Given the description of an element on the screen output the (x, y) to click on. 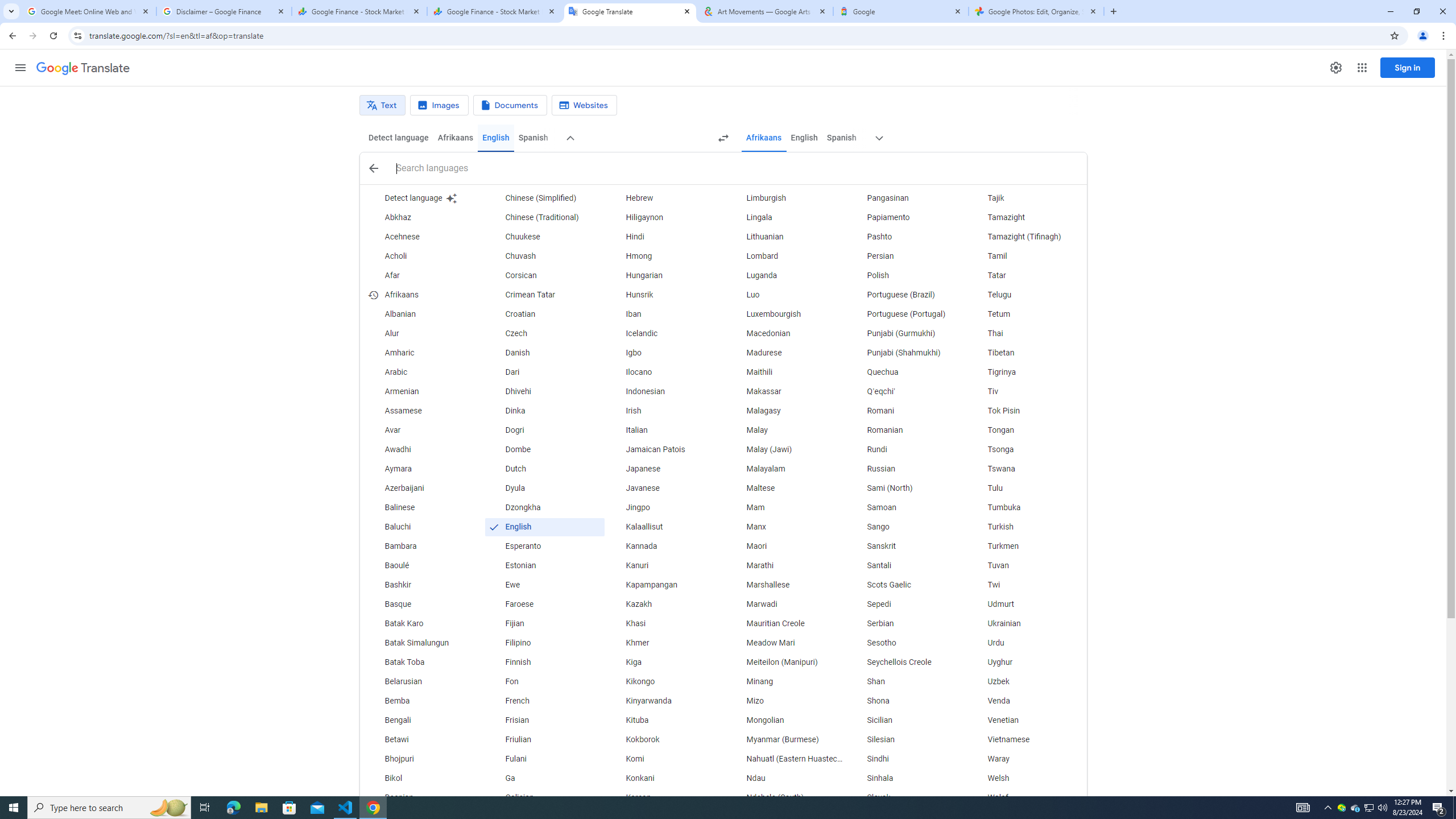
Shona (905, 701)
Bengali (423, 720)
Romani (905, 411)
Serbian (905, 624)
Malagasy (785, 411)
Bemba (423, 701)
Bosnian (423, 797)
Kanuri (665, 565)
Mizo (785, 701)
Tok Pisin (1026, 411)
Sicilian (905, 720)
Fulani (544, 759)
Tamil (1026, 256)
